Given the description of an element on the screen output the (x, y) to click on. 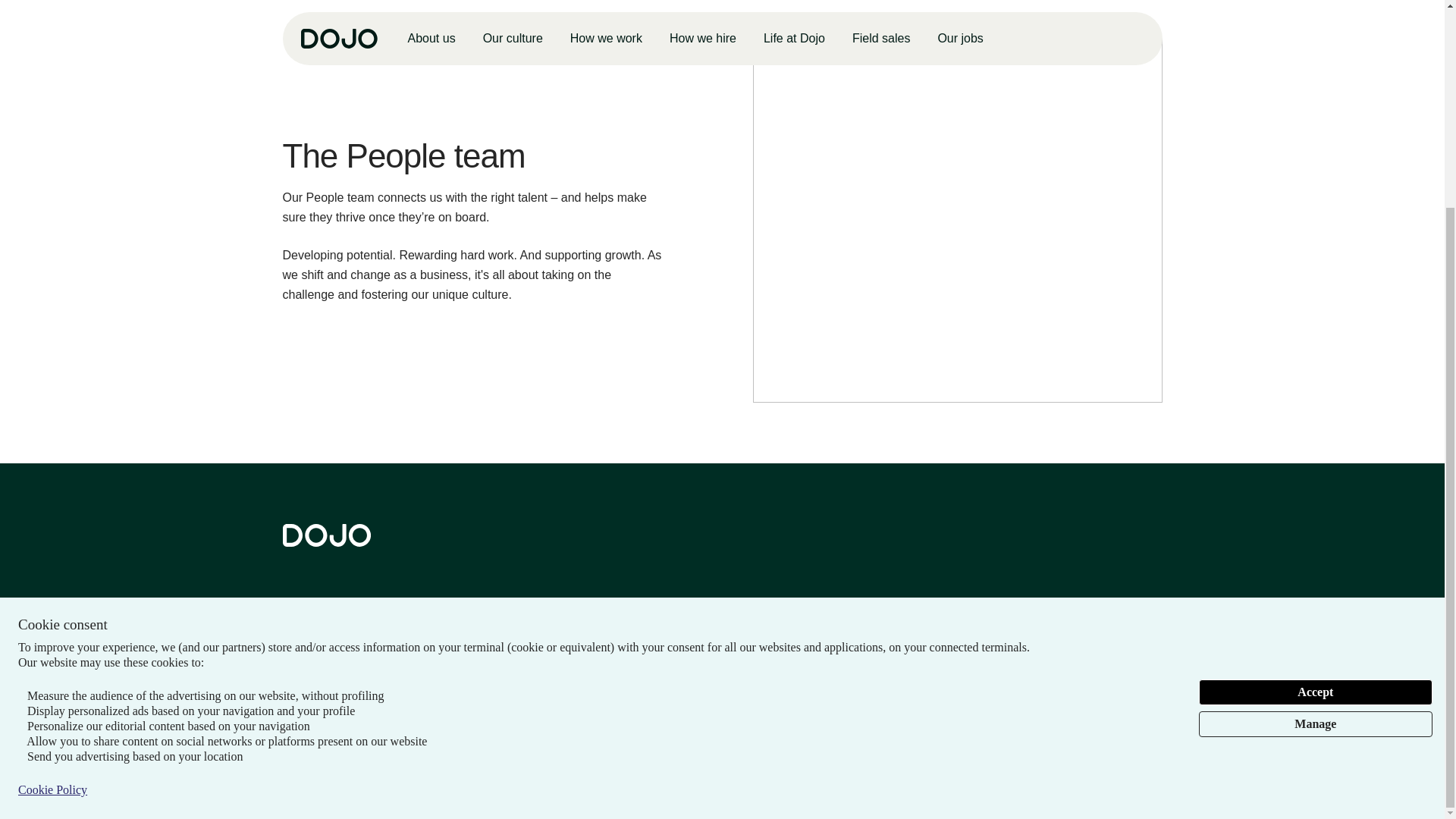
Accept (1315, 424)
Privacy Policy (316, 684)
Manage (1315, 456)
Cookie Policy (52, 522)
Linkedin (292, 617)
Linkedin (290, 616)
Instagram (328, 617)
Instagram (327, 616)
Legal (382, 684)
